Given the description of an element on the screen output the (x, y) to click on. 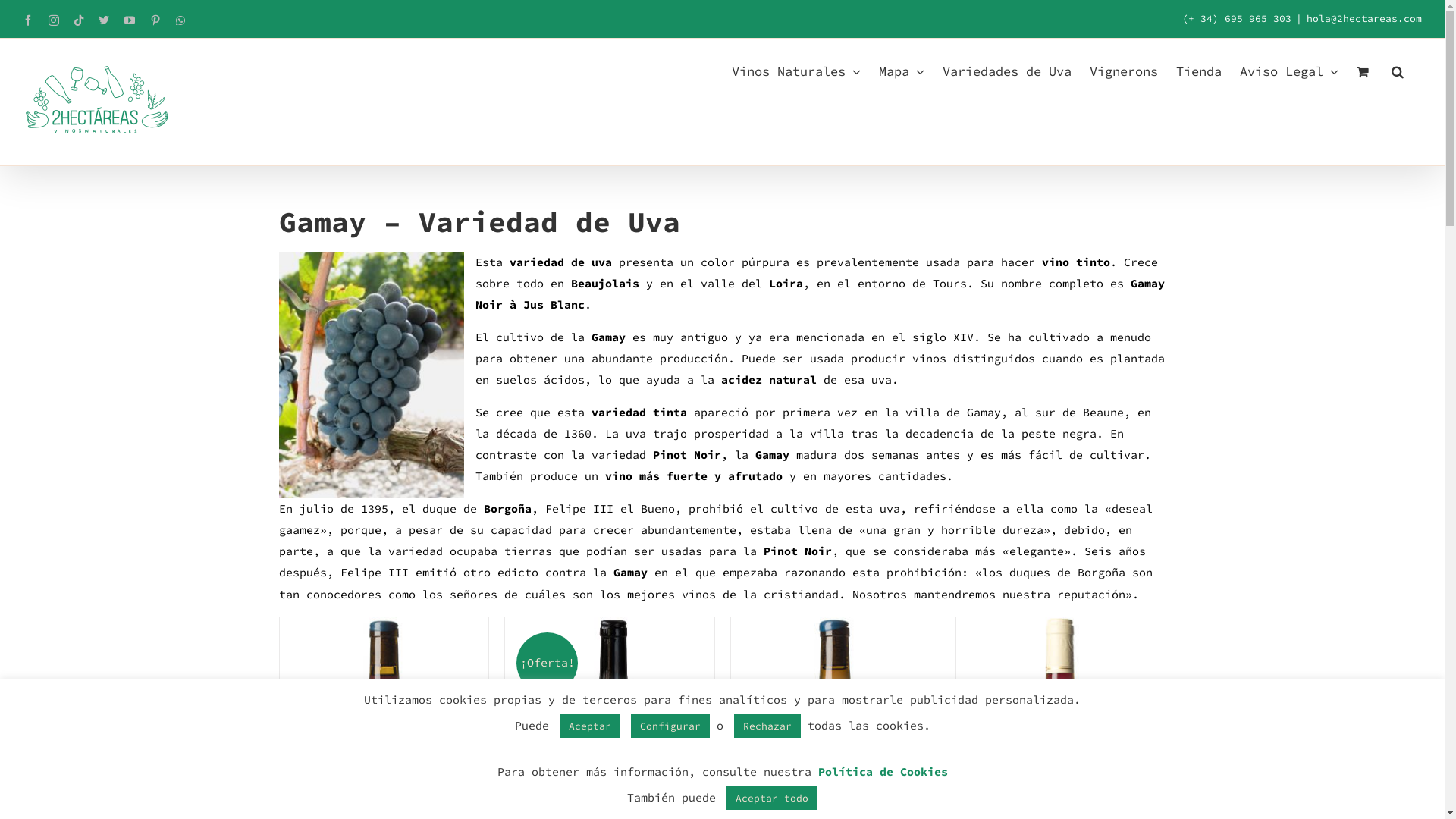
YouTube Element type: text (129, 20)
Pinterest Element type: text (155, 20)
Facebook Element type: text (27, 20)
hola@2hectareas.com Element type: text (1363, 18)
WhatsApp Element type: text (180, 20)
Vignerons Element type: text (1123, 70)
Variedades de Uva Element type: text (1006, 70)
Pinot Noir Element type: text (686, 454)
Instagram Element type: text (53, 20)
Rechazar Element type: text (767, 725)
Twitter Element type: text (103, 20)
Aceptar todo Element type: text (771, 797)
Aceptar Element type: text (589, 725)
Aviso Legal Element type: text (1288, 70)
Vinos Naturales Element type: text (795, 70)
Loira Element type: text (785, 283)
Tiktok Element type: text (78, 20)
Mapa Element type: text (901, 70)
Buscar Element type: hover (1397, 70)
Configurar Element type: text (669, 725)
Tienda Element type: text (1198, 70)
